Given the description of an element on the screen output the (x, y) to click on. 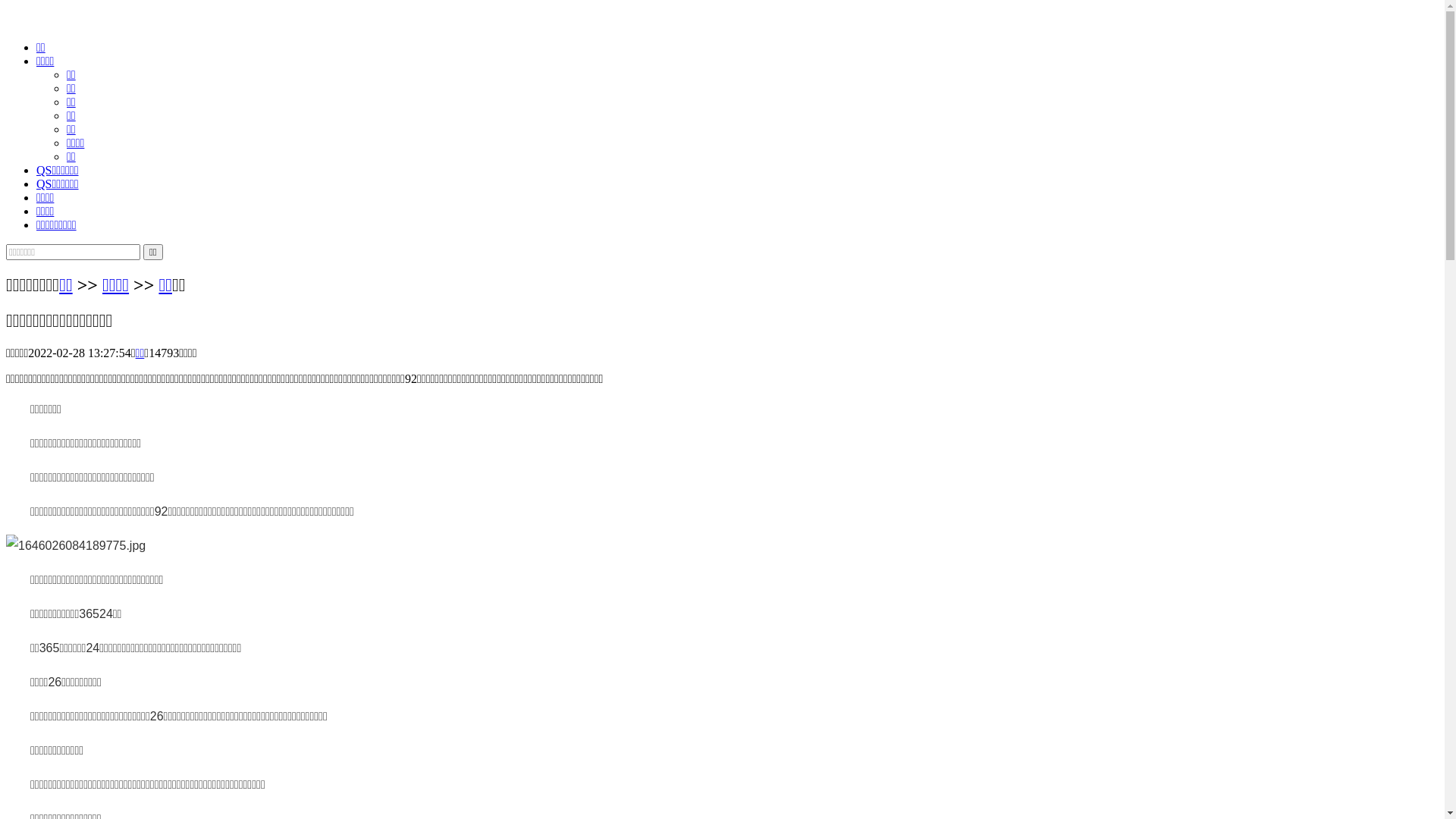
1646028915102456.jpg Element type: hover (75, 545)
